Given the description of an element on the screen output the (x, y) to click on. 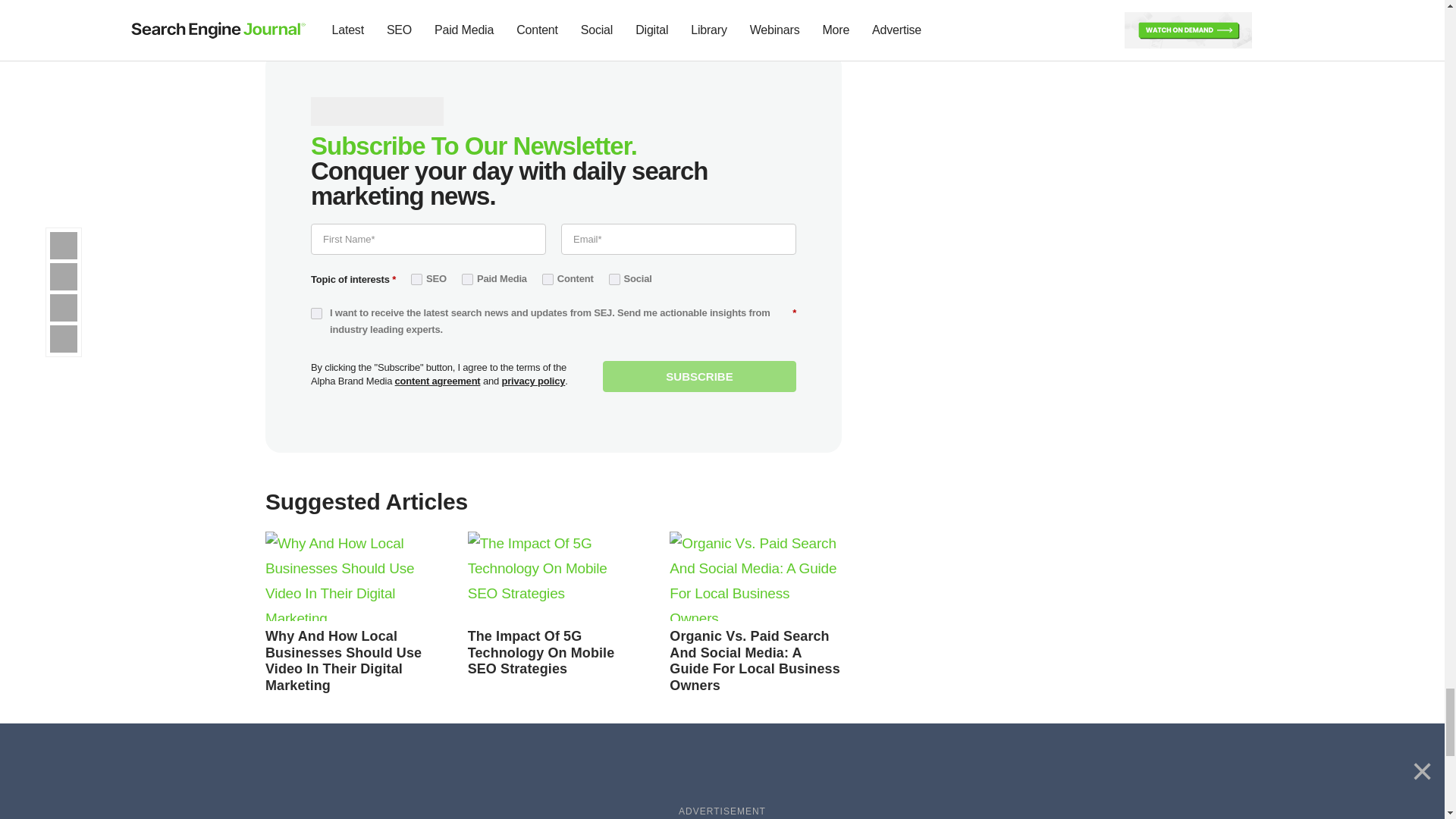
Read the Article (540, 652)
Read the Article (553, 575)
Read the Article (754, 660)
Read the Article (351, 575)
Read the Article (343, 660)
Read the Article (755, 575)
